Given the description of an element on the screen output the (x, y) to click on. 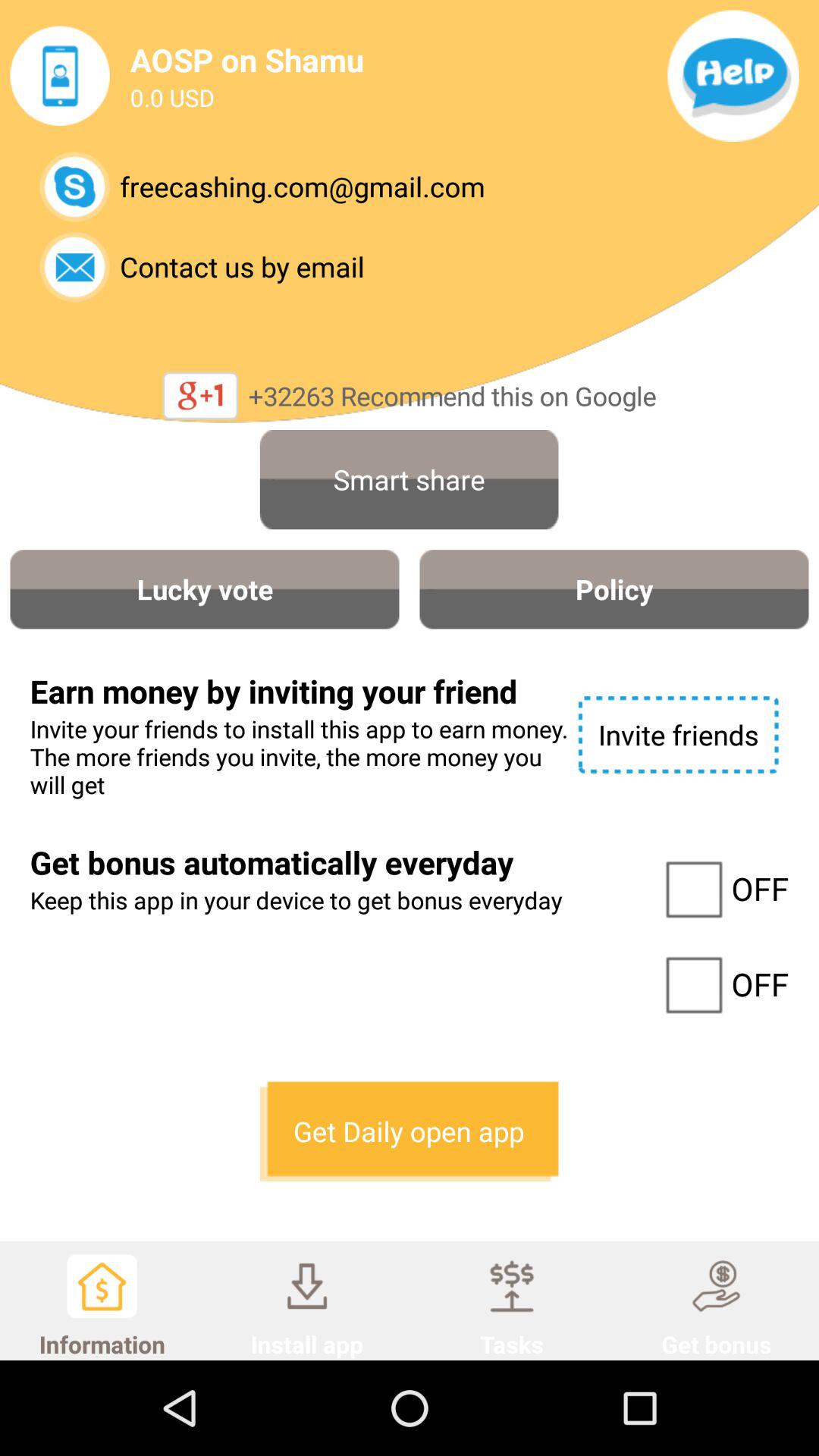
open skype contact (74, 186)
